Given the description of an element on the screen output the (x, y) to click on. 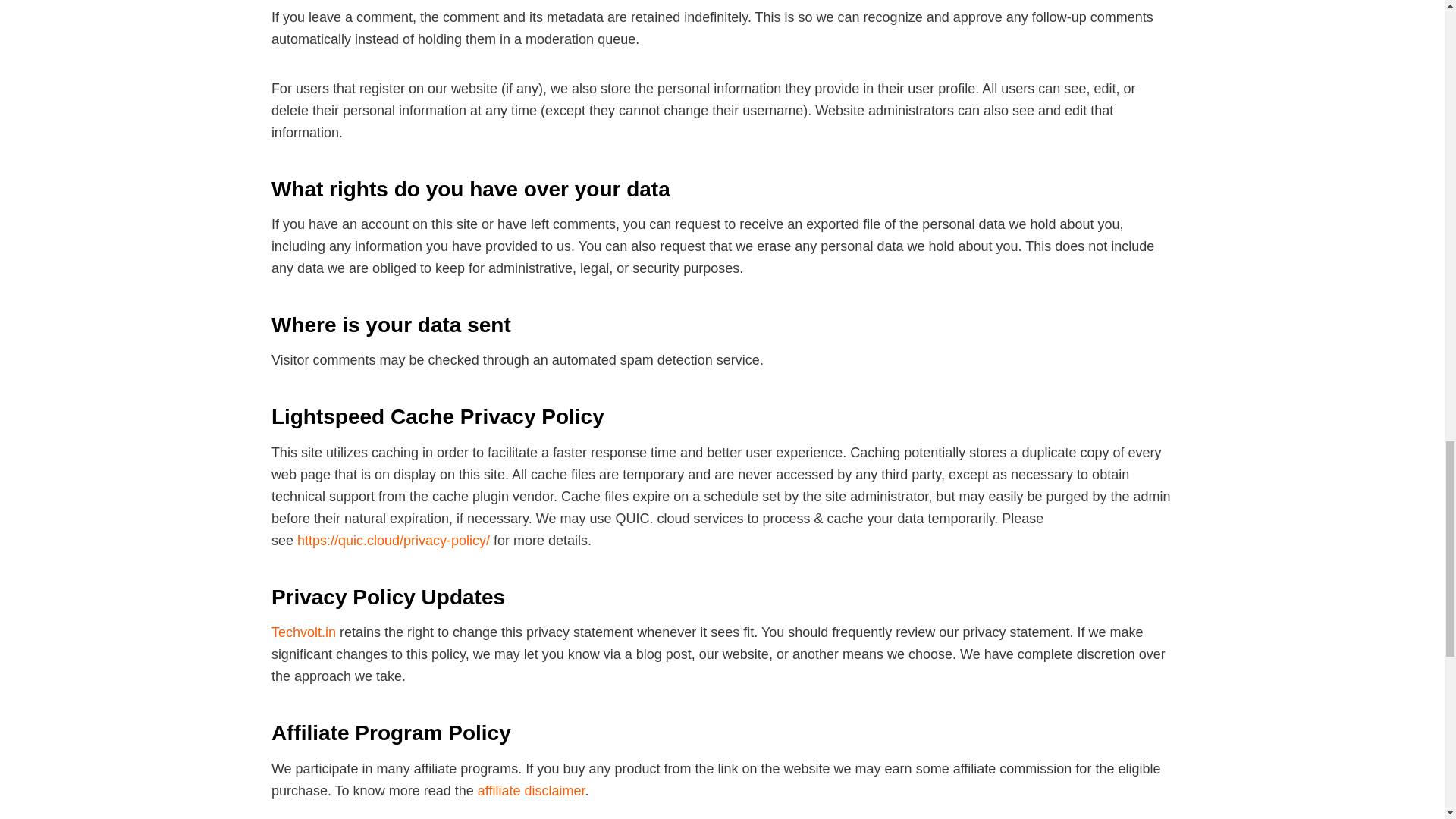
affiliate disclaimer (531, 790)
Techvolt.in (303, 631)
